Given the description of an element on the screen output the (x, y) to click on. 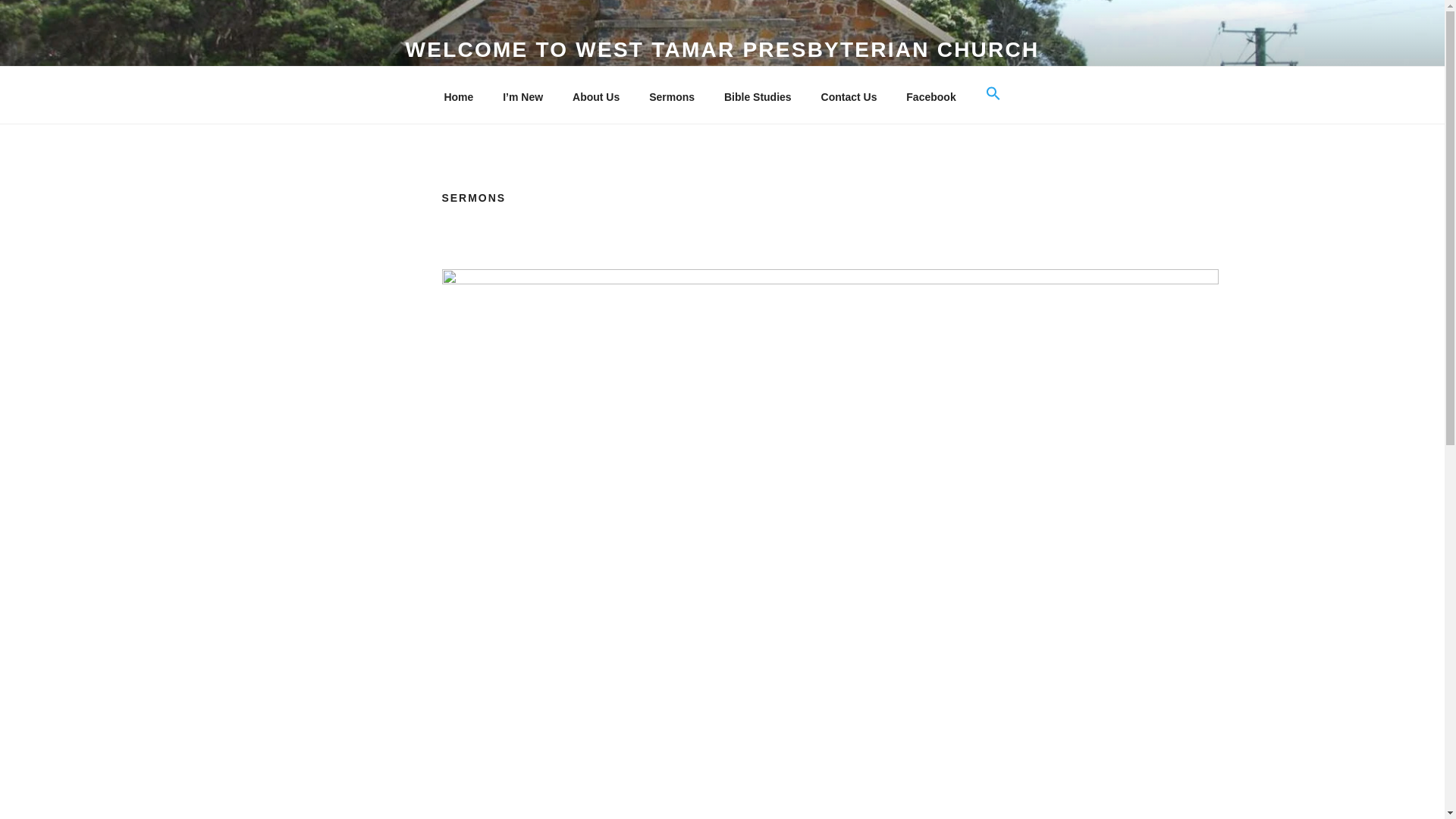
Home (458, 97)
Contact Us (848, 97)
Facebook (931, 97)
Sermons (671, 97)
About Us (596, 97)
Bible Studies (757, 97)
WELCOME TO WEST TAMAR PRESBYTERIAN CHURCH (722, 49)
